Given the description of an element on the screen output the (x, y) to click on. 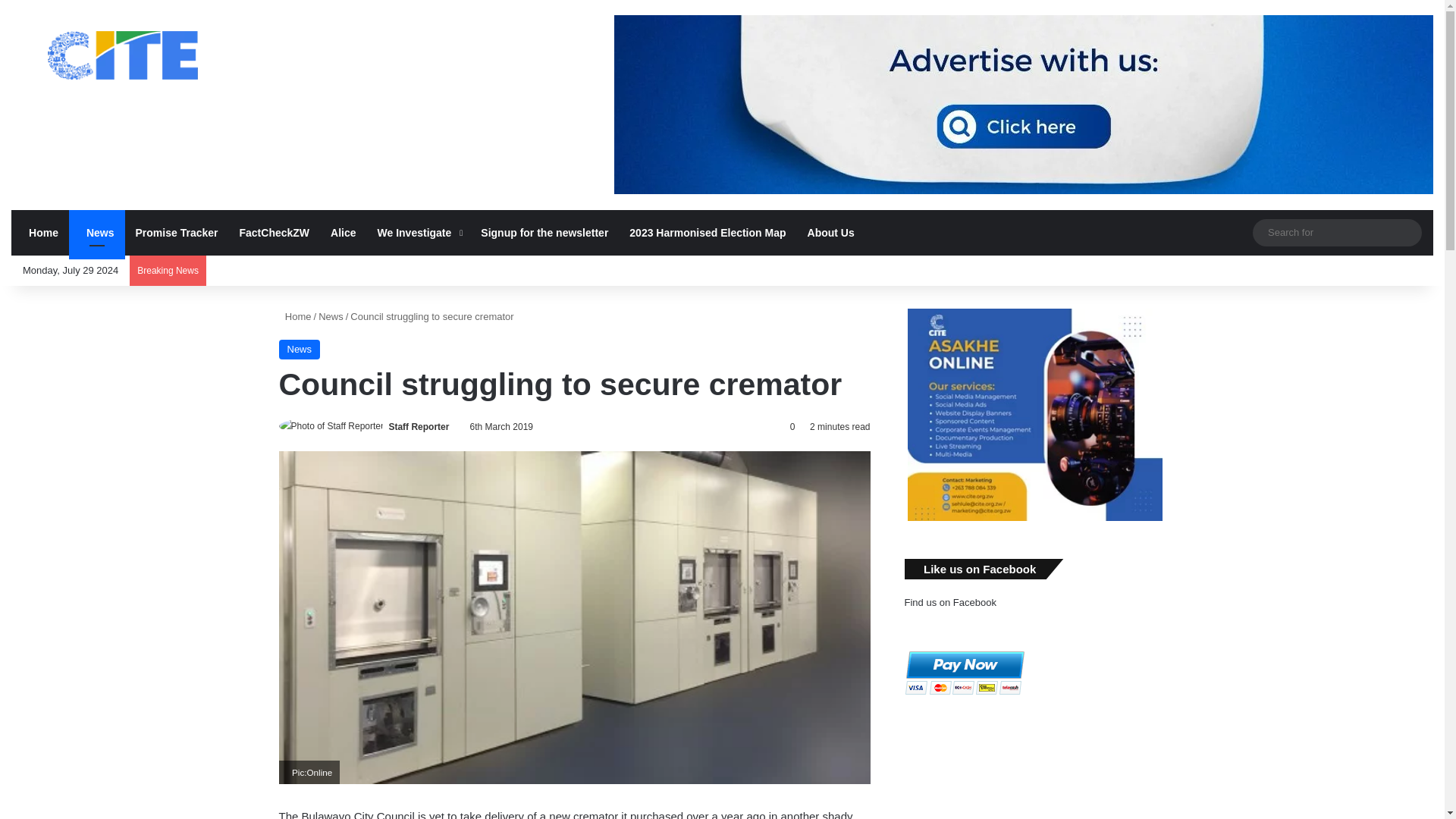
YouTube (1296, 270)
RSS (1342, 270)
Switch skin (1241, 232)
Staff Reporter (418, 426)
Home (39, 232)
Signup for the newsletter (544, 232)
2023 Harmonised Election Map (707, 232)
We Investigate (418, 232)
About Us (830, 232)
News (96, 232)
Search for (1337, 231)
X (1273, 270)
Promise Tracker (176, 232)
Instagram (1196, 232)
FactCheckZW (274, 232)
